Given the description of an element on the screen output the (x, y) to click on. 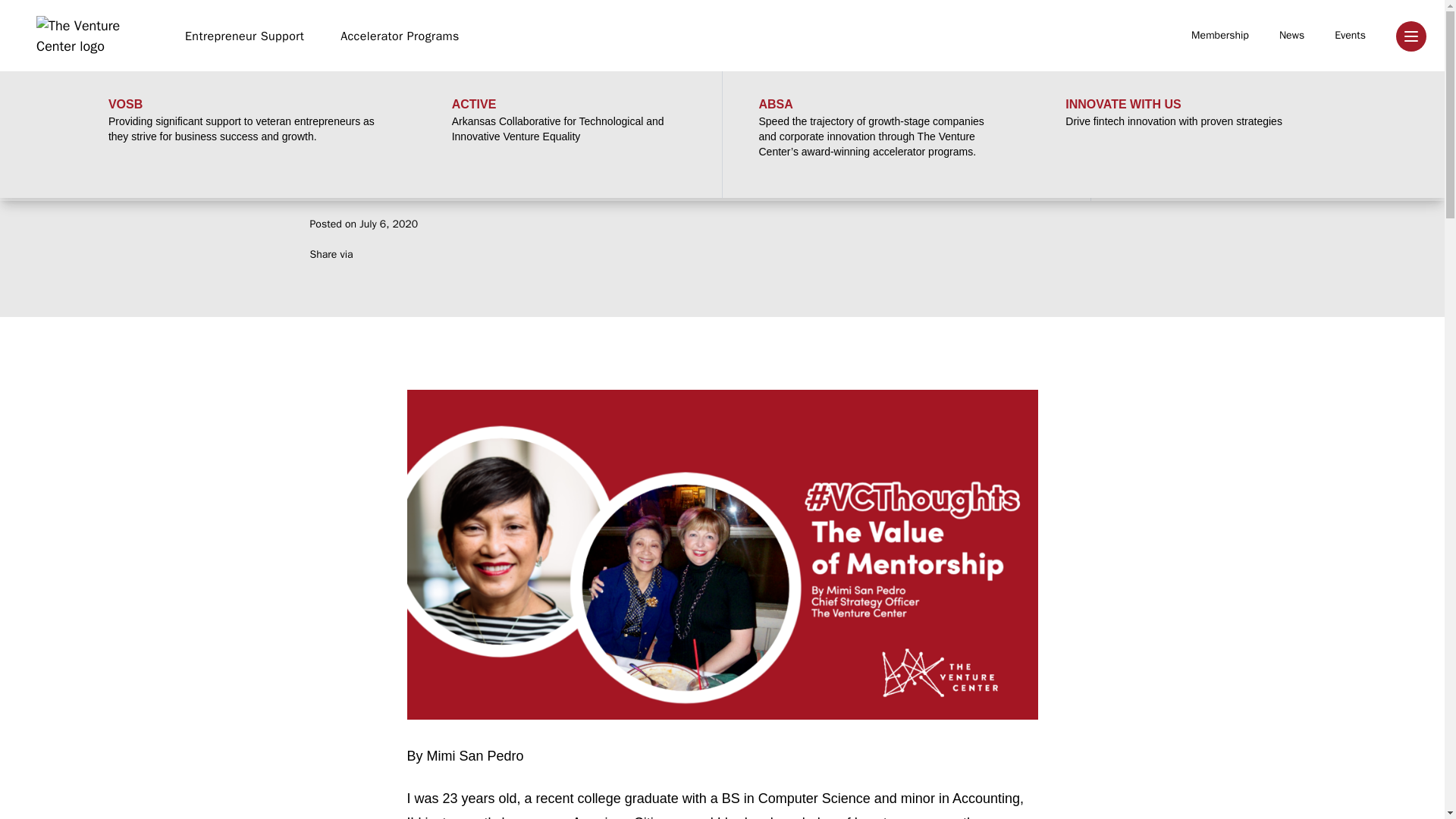
Accelerator Programs (400, 36)
Membership (1220, 35)
Events (1350, 35)
News (1291, 35)
Entrepreneur Support (244, 36)
